Given the description of an element on the screen output the (x, y) to click on. 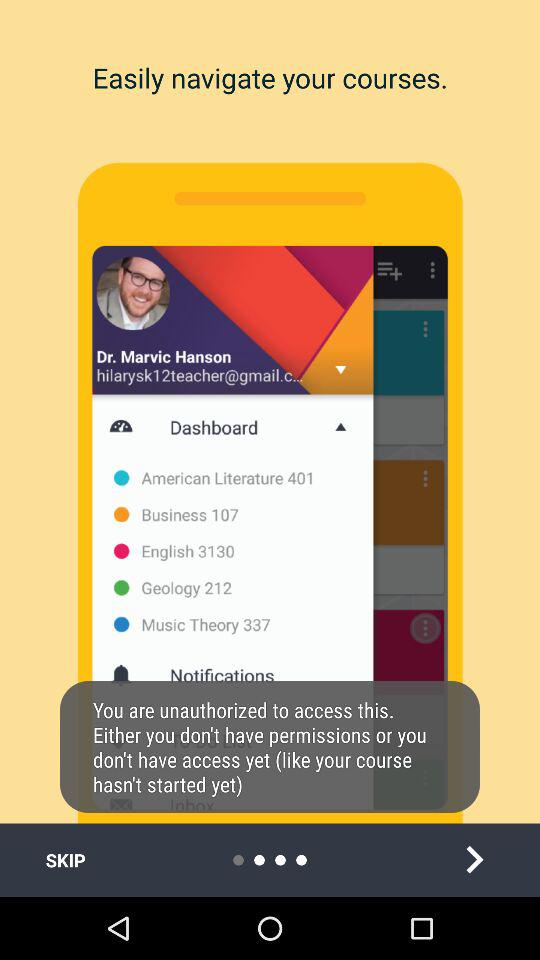
go to next (474, 860)
